Given the description of an element on the screen output the (x, y) to click on. 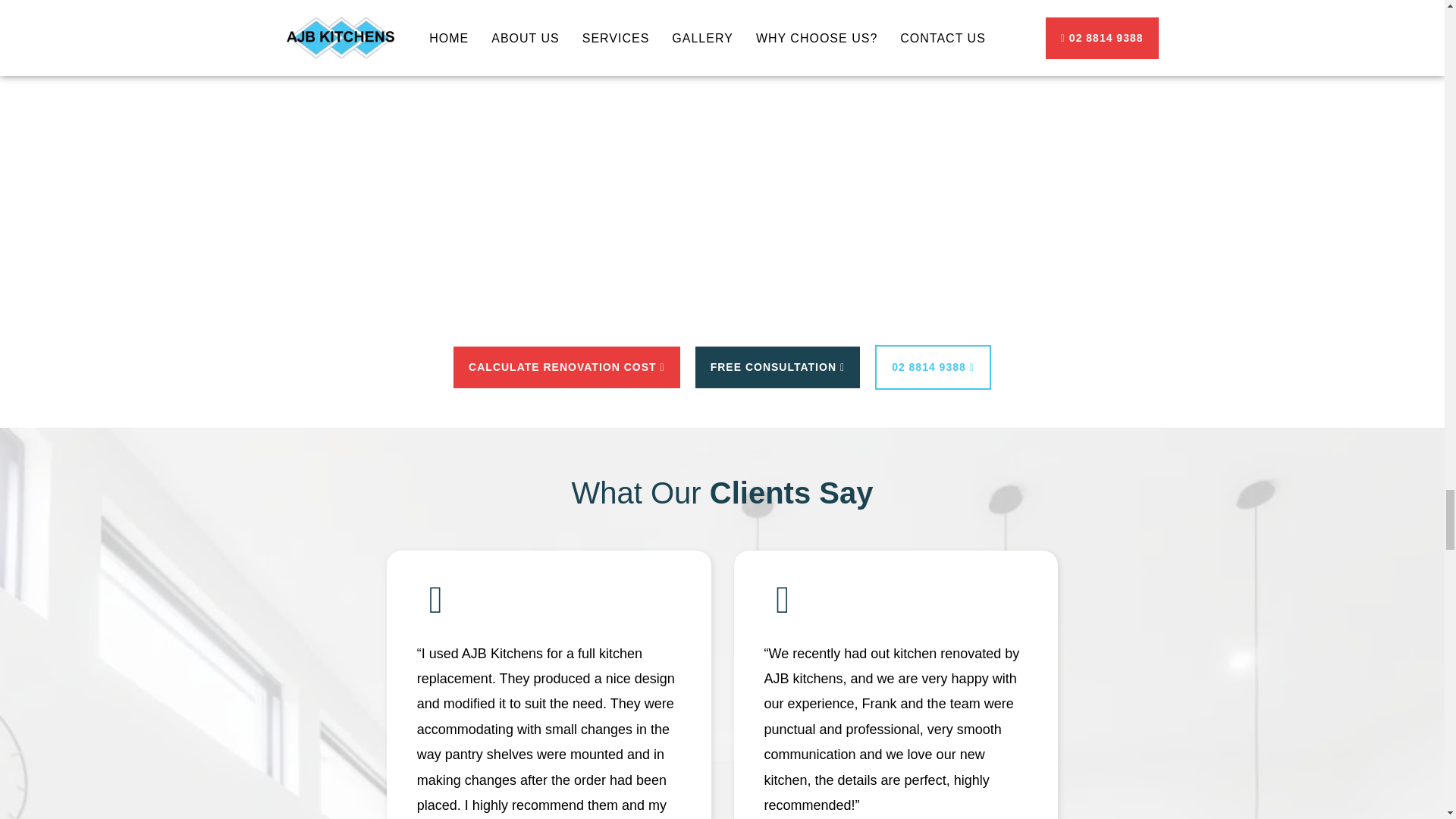
FREE CONSULTATION (777, 367)
CALCULATE RENOVATION COST (565, 367)
02 8814 9388 (933, 366)
